Given the description of an element on the screen output the (x, y) to click on. 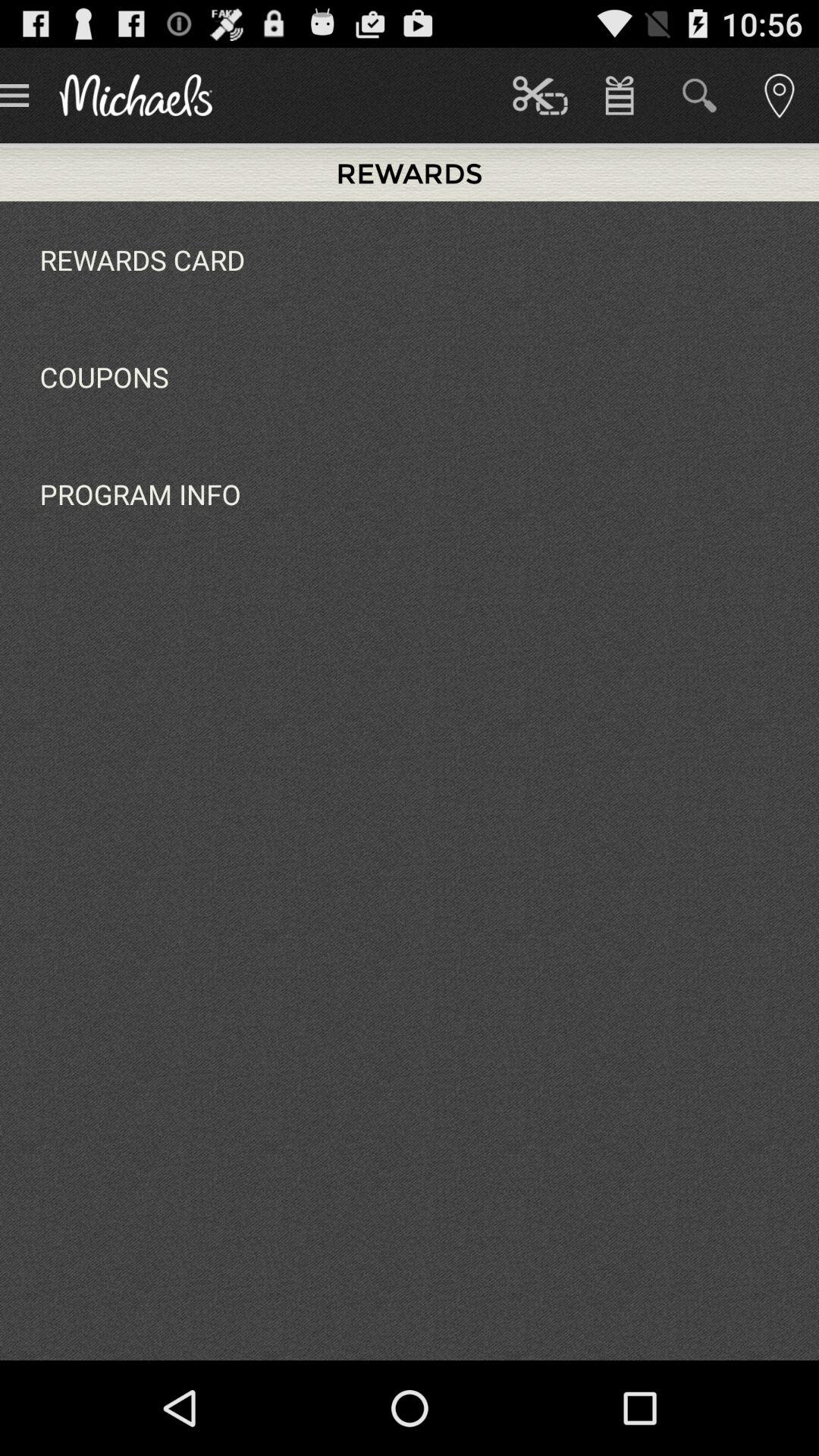
scroll to the rewards card app (142, 259)
